Given the description of an element on the screen output the (x, y) to click on. 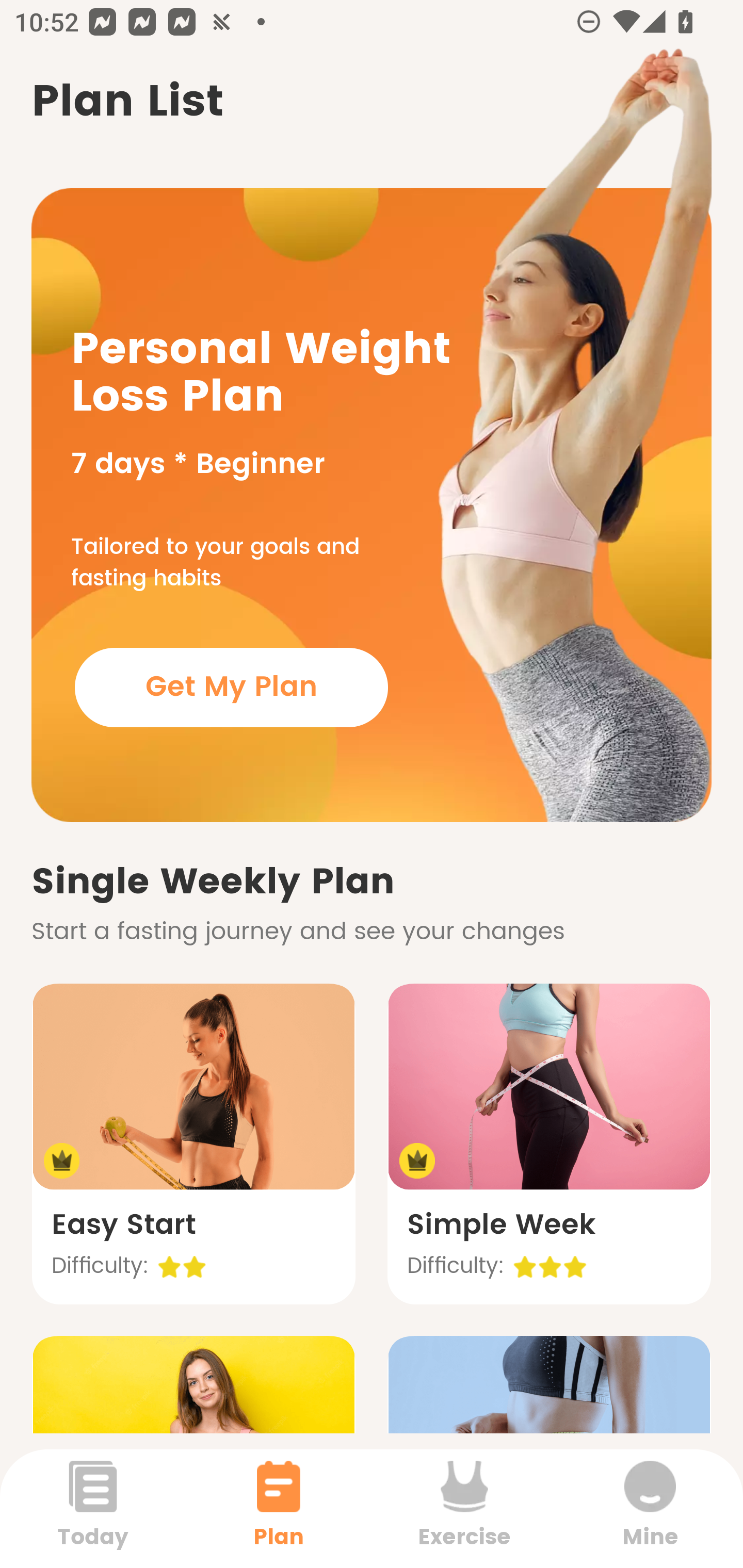
Get My Plan (231, 687)
Easy Start Difficulty: 2.0 (193, 1143)
Simple Week Difficulty: 3.0 (549, 1143)
Today (92, 1508)
Exercise (464, 1508)
Mine (650, 1508)
